Given the description of an element on the screen output the (x, y) to click on. 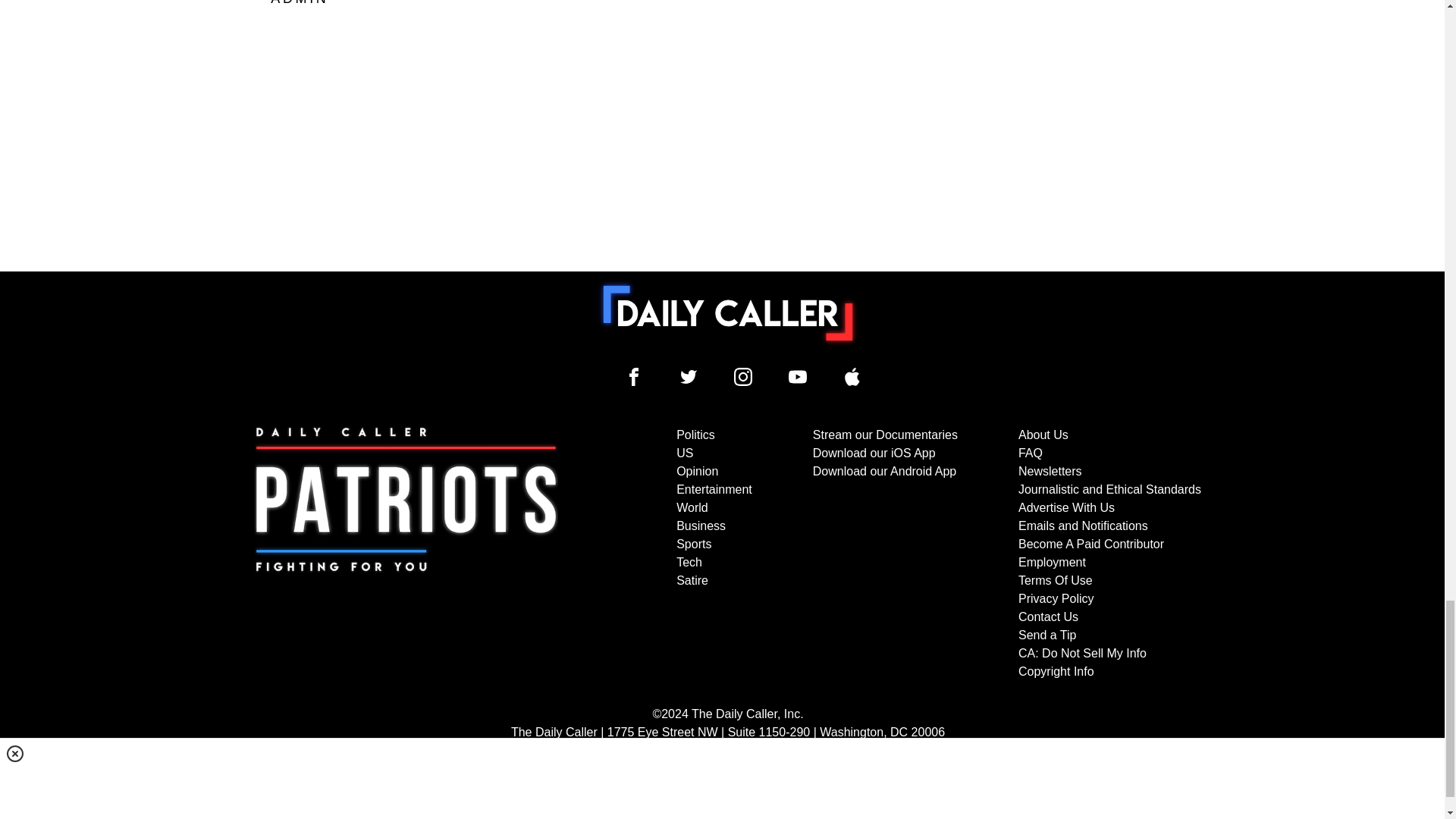
Daily Caller YouTube (797, 376)
To home page (727, 312)
Daily Caller Instagram (742, 376)
Daily Caller Twitter (688, 376)
Daily Caller Facebook (633, 376)
Subscribe to The Daily Caller (405, 552)
Daily Caller YouTube (852, 376)
